Given the description of an element on the screen output the (x, y) to click on. 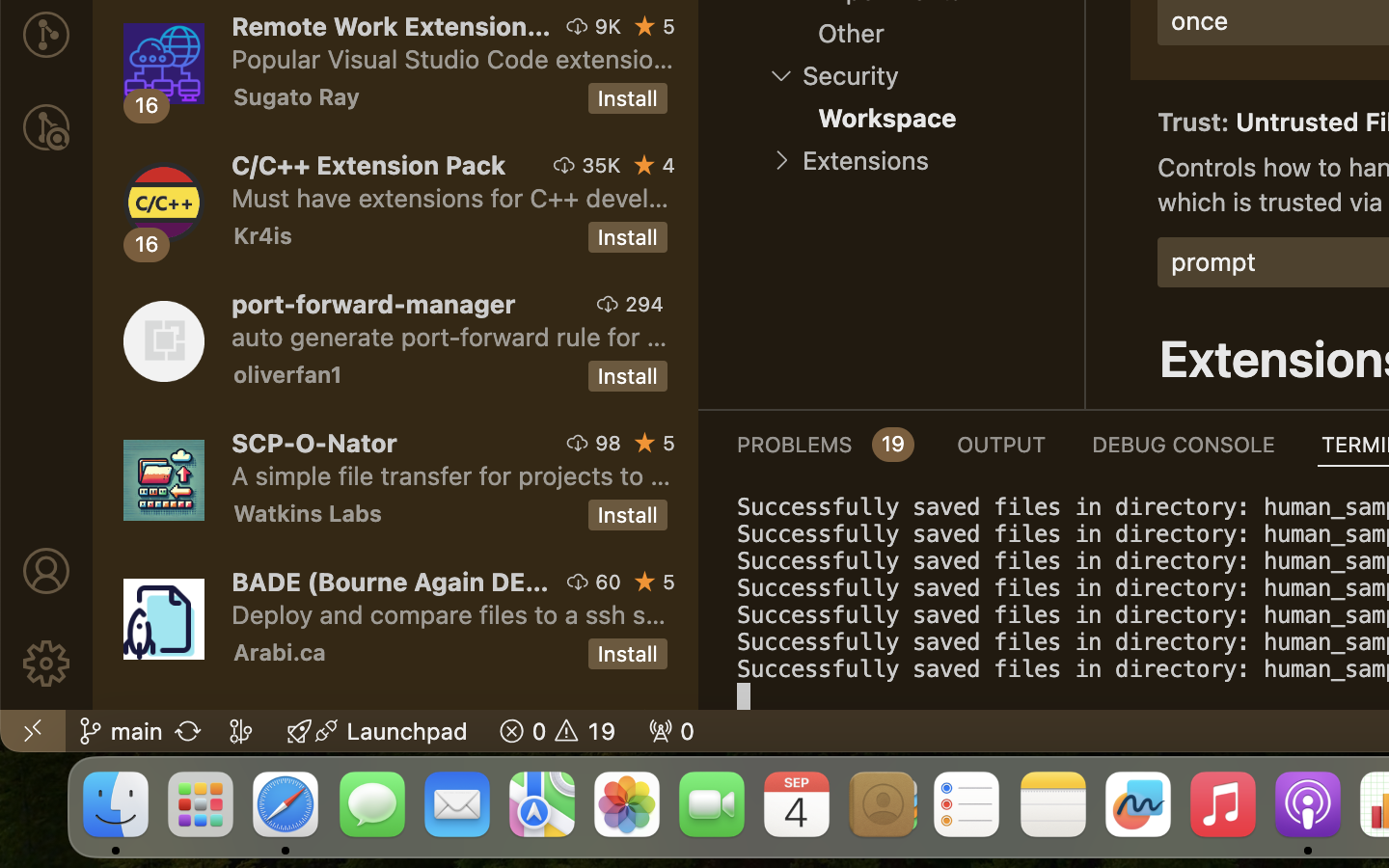
Extensions Element type: AXStaticText (865, 160)
Launchpad   Element type: AXButton (376, 730)
A simple file transfer for projects to and from servers suporting scp (ssh file transfer). Element type: AXStaticText (451, 475)
C/C++ Extension Pack Element type: AXStaticText (369, 164)
60 Element type: AXStaticText (608, 581)
